Given the description of an element on the screen output the (x, y) to click on. 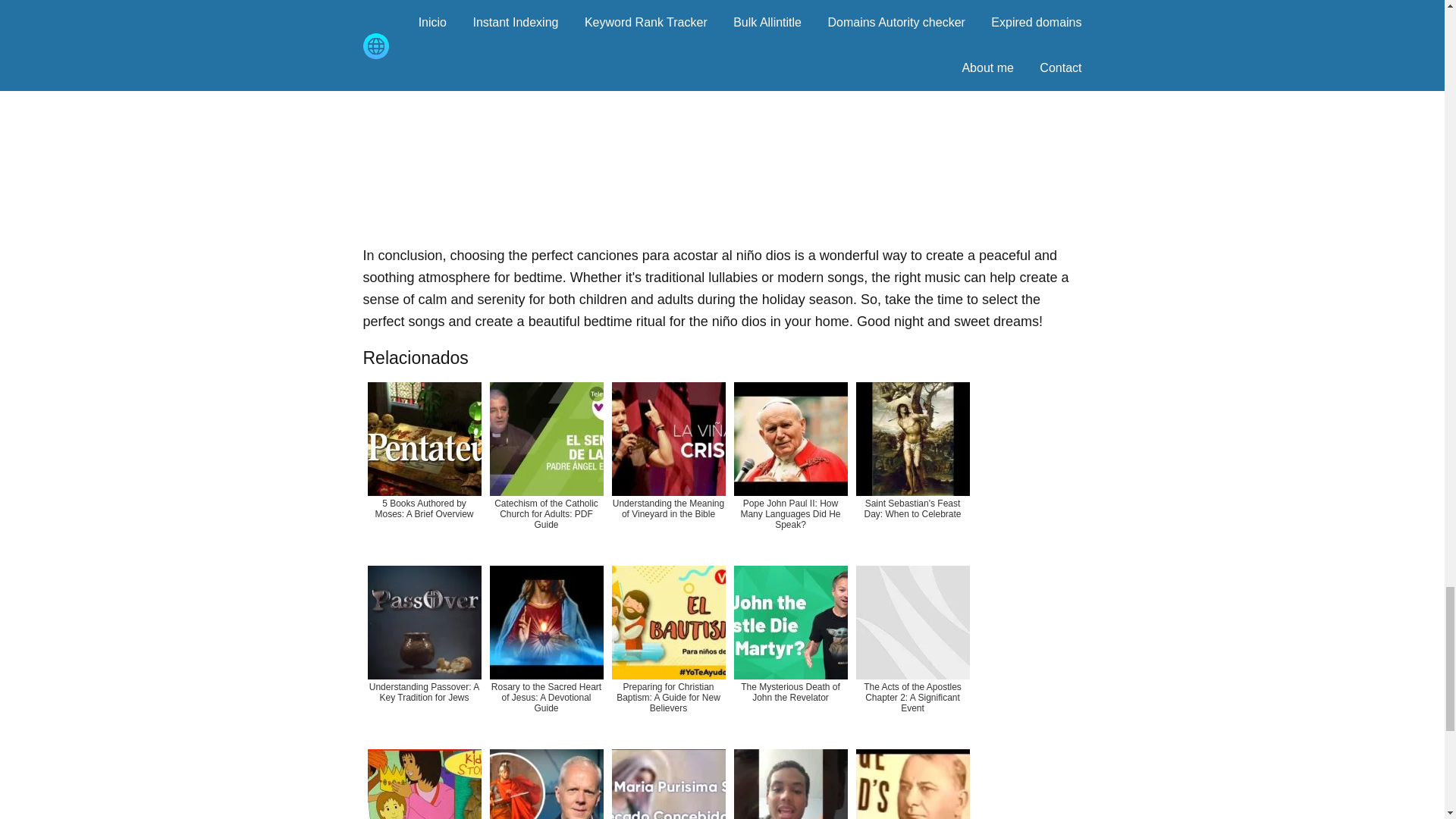
The Jehovah's Witnesses' Bible: A Comprehensive Guide (912, 781)
The Names of the Three Wise Men: Unveiling the Mystery (423, 781)
Understanding Anathema in the Bible (790, 781)
